Given the description of an element on the screen output the (x, y) to click on. 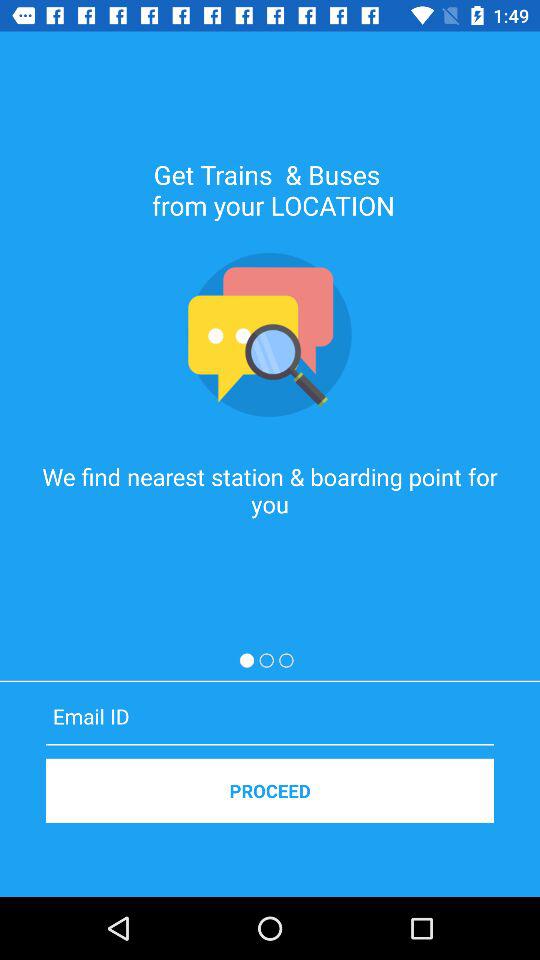
swipe until the email id (269, 716)
